Given the description of an element on the screen output the (x, y) to click on. 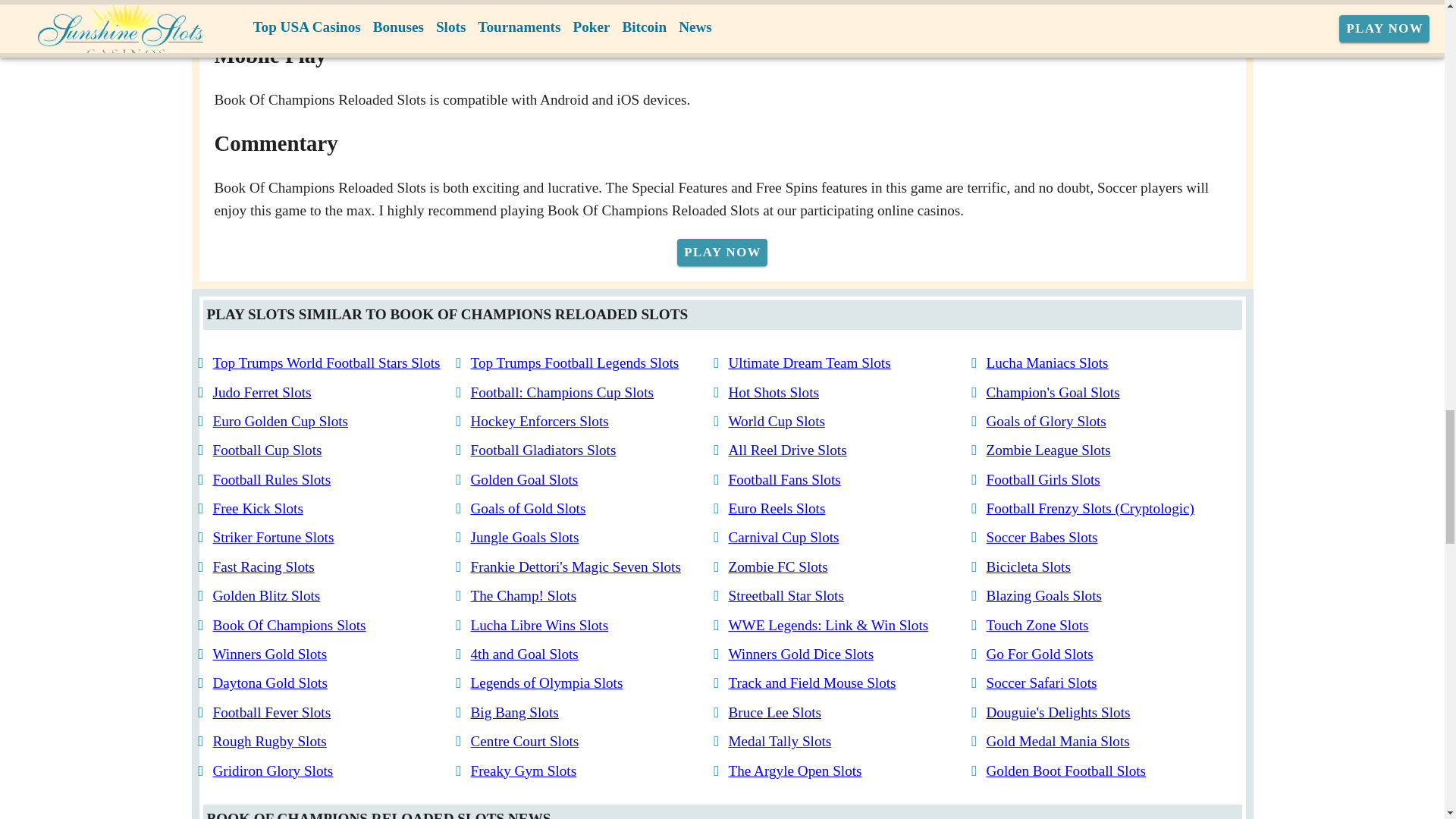
Football Gladiators Slots (542, 449)
Judo Ferret Slots (261, 391)
Goals of Glory Slots (1045, 421)
Euro Golden Cup Slots (279, 421)
Hot Shots Slots (773, 391)
Top Trumps Football Legends Slots (574, 362)
All Reel Drive Slots (786, 449)
World Cup Slots (776, 421)
Top Trumps World Football Stars Slots (325, 362)
Lucha Maniacs Slots (1046, 362)
Football Cup Slots (266, 449)
Football Rules Slots (271, 479)
Golden Goal Slots (524, 479)
Hockey Enforcers Slots (539, 421)
Football: Champions Cup Slots (561, 391)
